Given the description of an element on the screen output the (x, y) to click on. 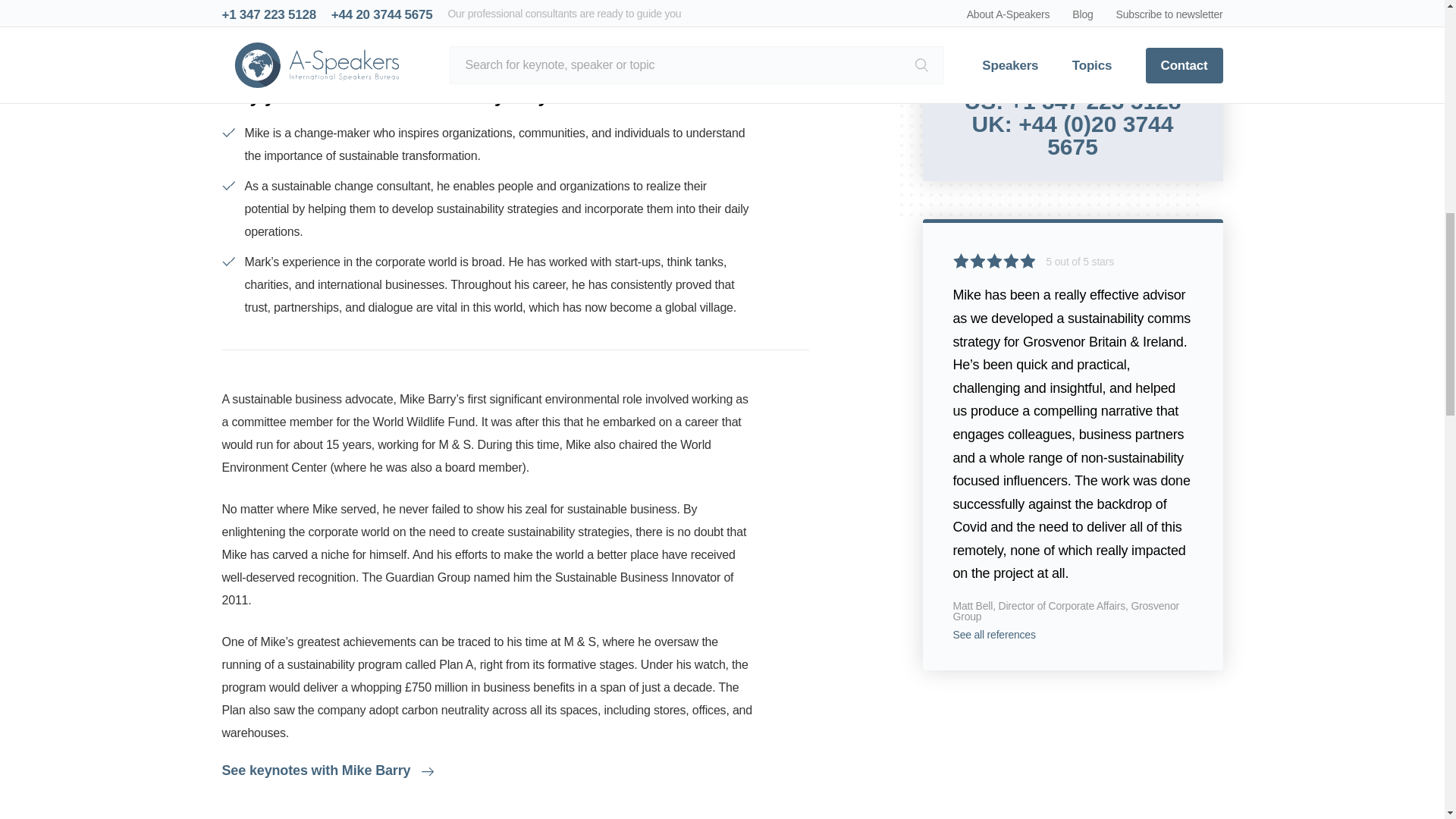
Submit Request (1071, 39)
See all references (993, 634)
Submit Request (1071, 39)
See keynotes with Mike Barry (327, 770)
